Given the description of an element on the screen output the (x, y) to click on. 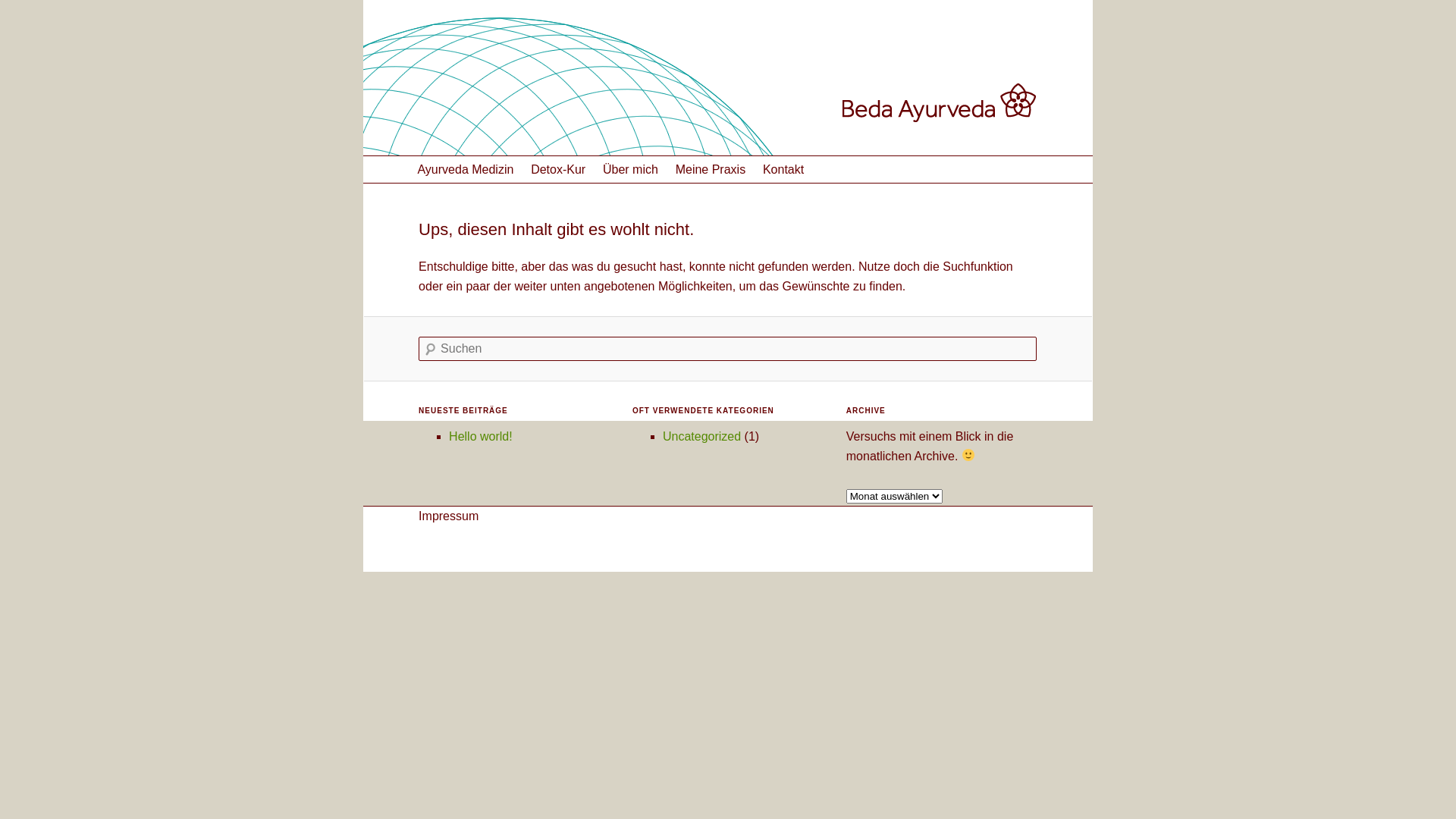
Uncategorized Element type: text (701, 435)
Meine Praxis Element type: text (709, 169)
Impressum Element type: text (448, 515)
Suchen Element type: text (56, 11)
Zum Inhalt wechseln Element type: text (482, 169)
Detox-Kur Element type: text (558, 169)
Beda Ayurveda Element type: text (500, 57)
Ayurveda Medizin Element type: text (465, 169)
Hello world! Element type: text (480, 435)
Kontakt Element type: text (783, 169)
